Given the description of an element on the screen output the (x, y) to click on. 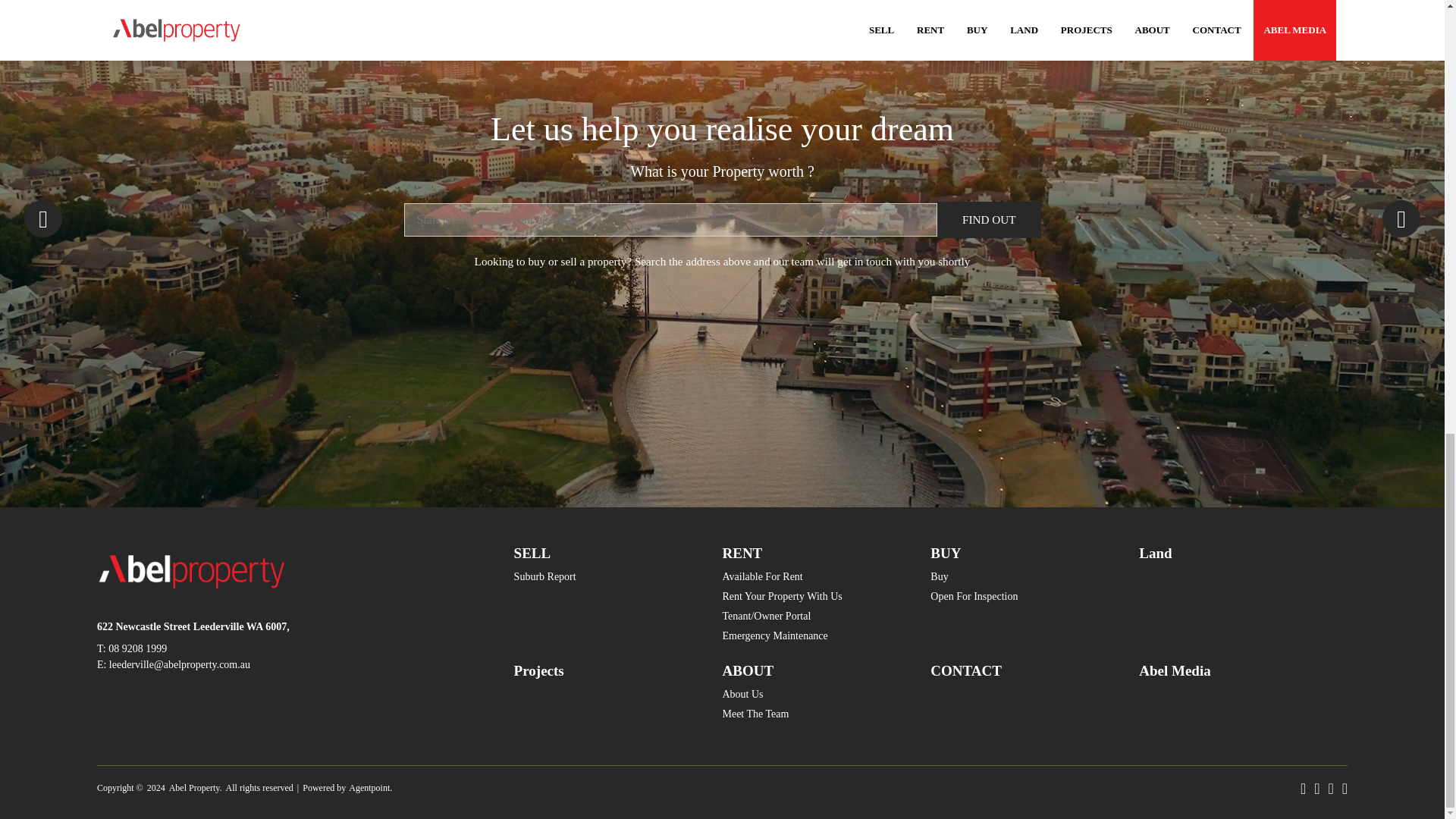
FIND OUT (989, 219)
